Given the description of an element on the screen output the (x, y) to click on. 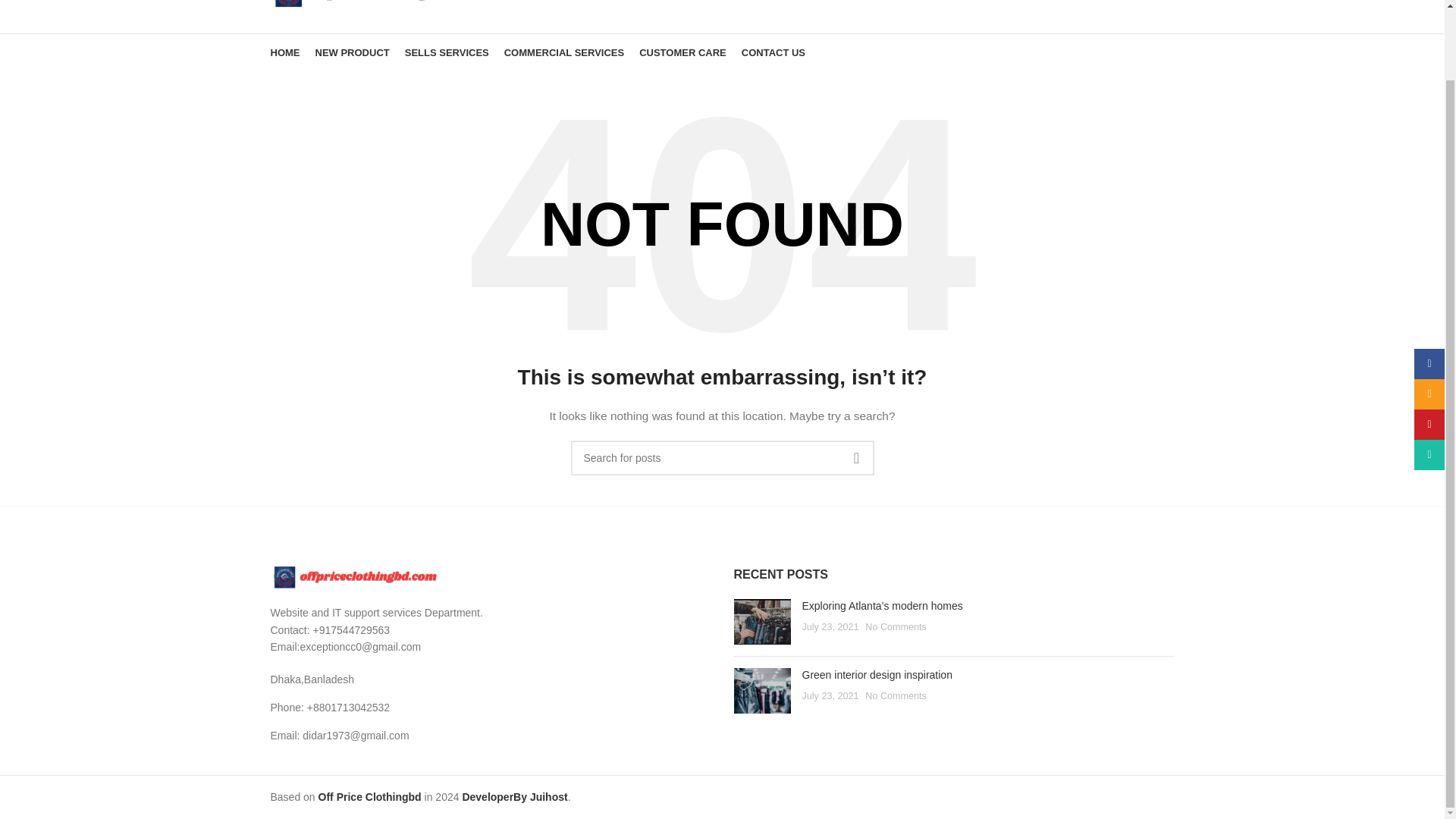
COMMERCIAL SERVICES (563, 52)
Off Price Clothingbd (370, 797)
No Comments (895, 626)
Search (1173, 4)
SEARCH (855, 457)
Search for posts (721, 457)
CONTACT US (773, 52)
CUSTOMER CARE (682, 52)
HOME (284, 52)
No Comments (895, 696)
